Given the description of an element on the screen output the (x, y) to click on. 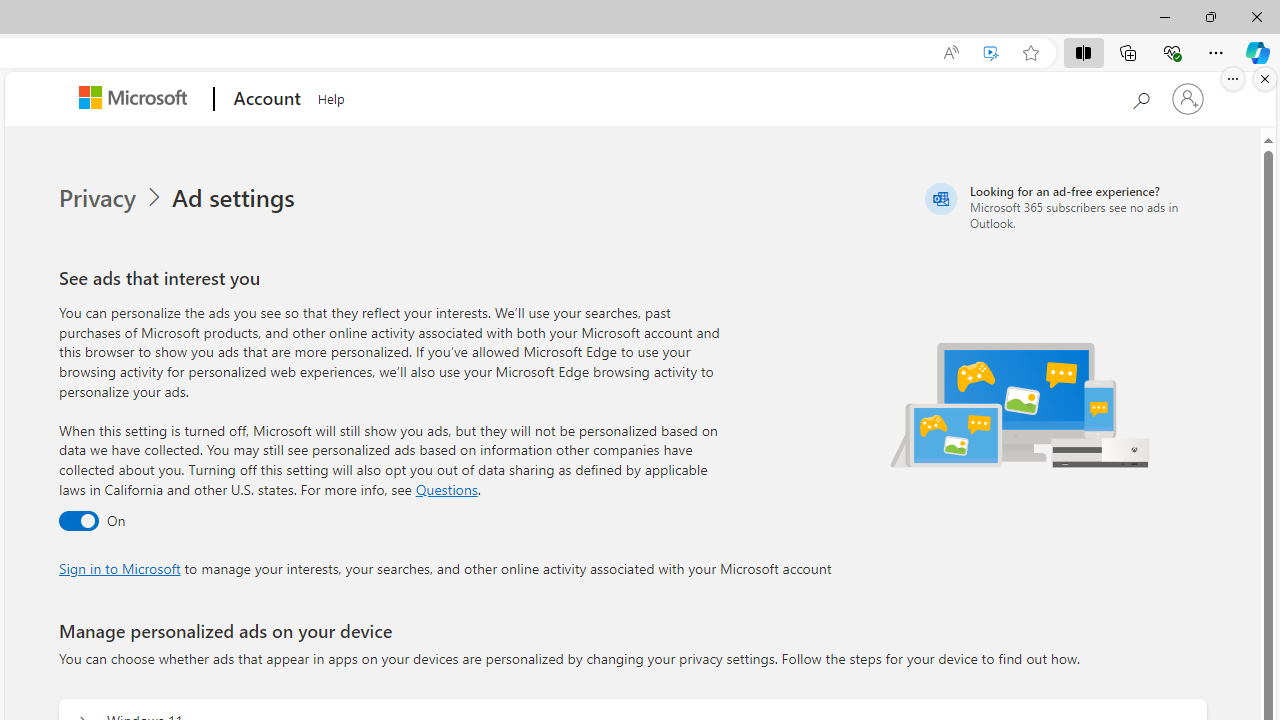
Ad settings (236, 197)
Help (331, 96)
Privacy (112, 197)
Account (264, 99)
More options. (1233, 79)
Sign in to Microsoft (119, 568)
Go to Questions section (445, 488)
Search Microsoft.com (1140, 97)
Privacy (98, 197)
